Given the description of an element on the screen output the (x, y) to click on. 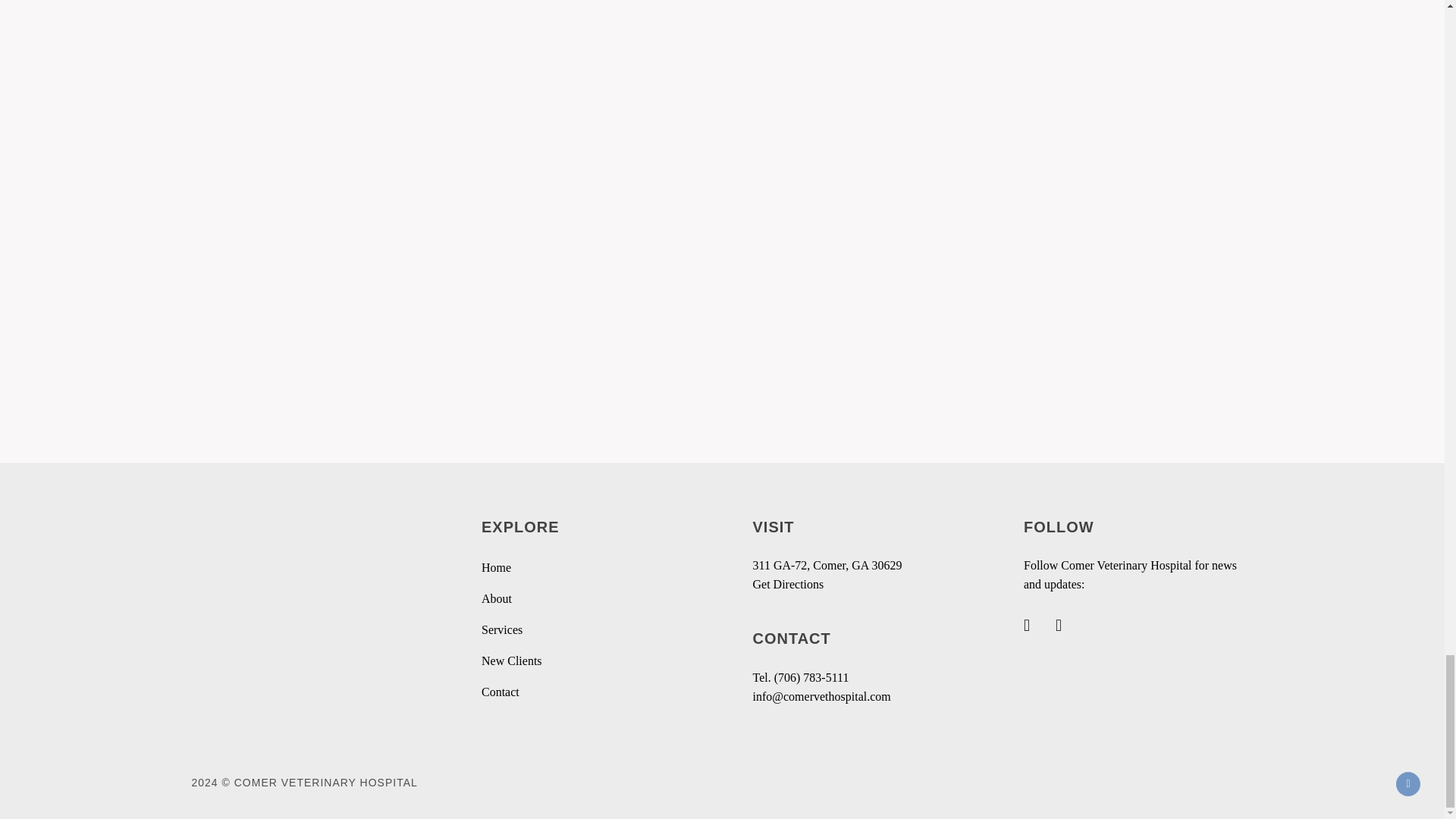
Home (496, 568)
About (496, 599)
New Clients (511, 660)
Contact (500, 692)
Services (501, 629)
Get Directions (788, 584)
